Given the description of an element on the screen output the (x, y) to click on. 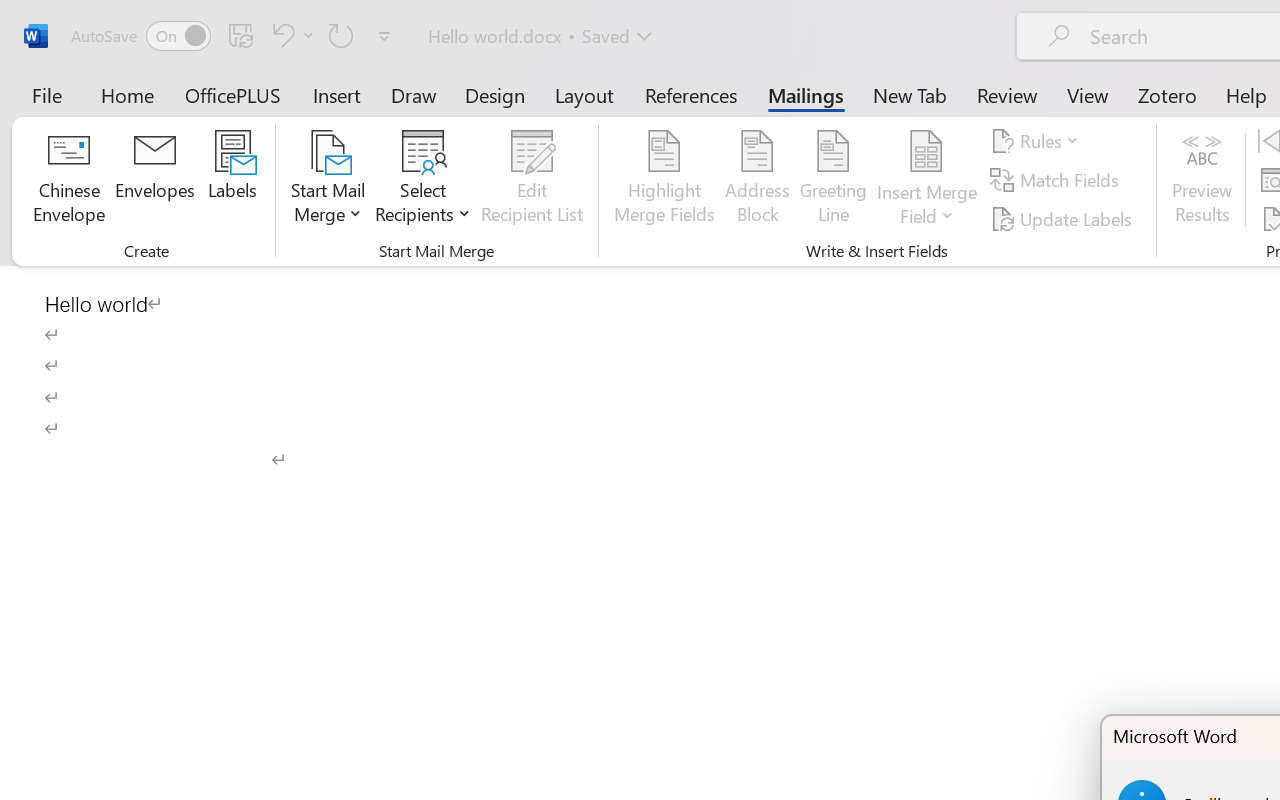
Start Mail Merge (328, 179)
Design (495, 94)
File Tab (46, 94)
New Tab (909, 94)
Quick Access Toolbar (233, 36)
Match Fields... (1057, 179)
Mailings (806, 94)
Rules (1037, 141)
Insert (337, 94)
